Given the description of an element on the screen output the (x, y) to click on. 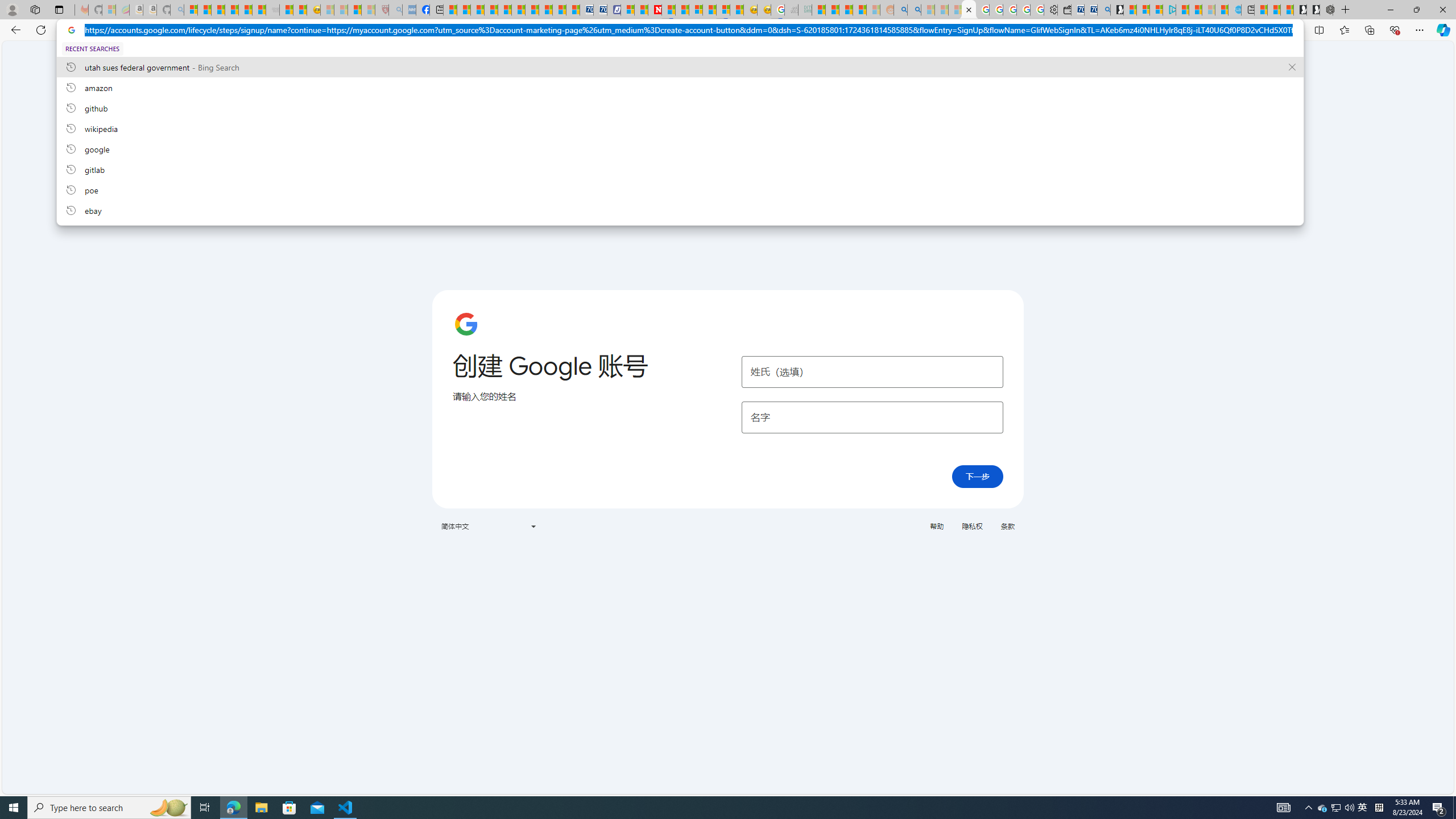
12 Popular Science Lies that Must be Corrected - Sleeping (368, 9)
ebay, recent searches from history (679, 209)
